Given the description of an element on the screen output the (x, y) to click on. 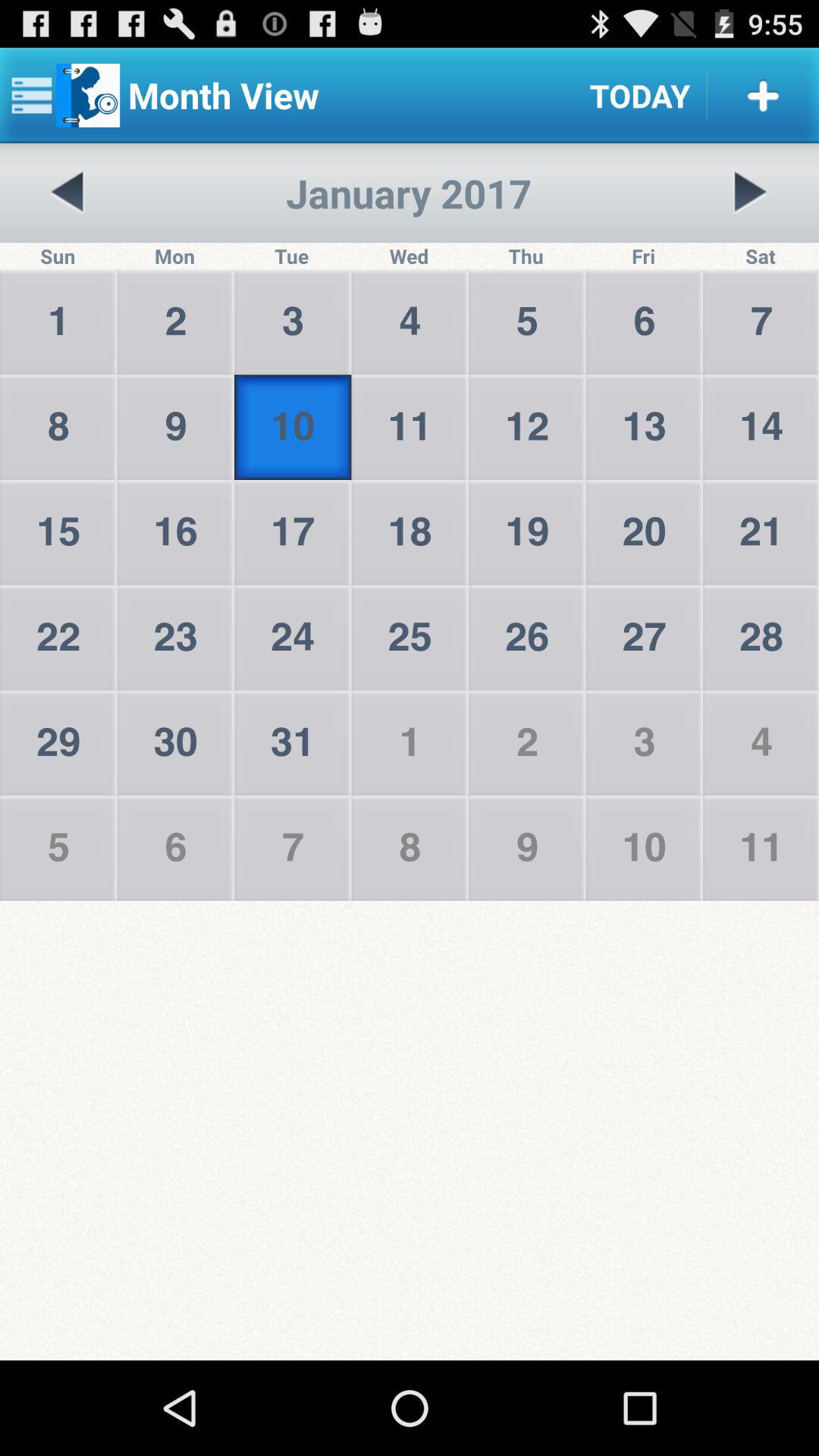
click icon to the right of the month view icon (639, 95)
